Given the description of an element on the screen output the (x, y) to click on. 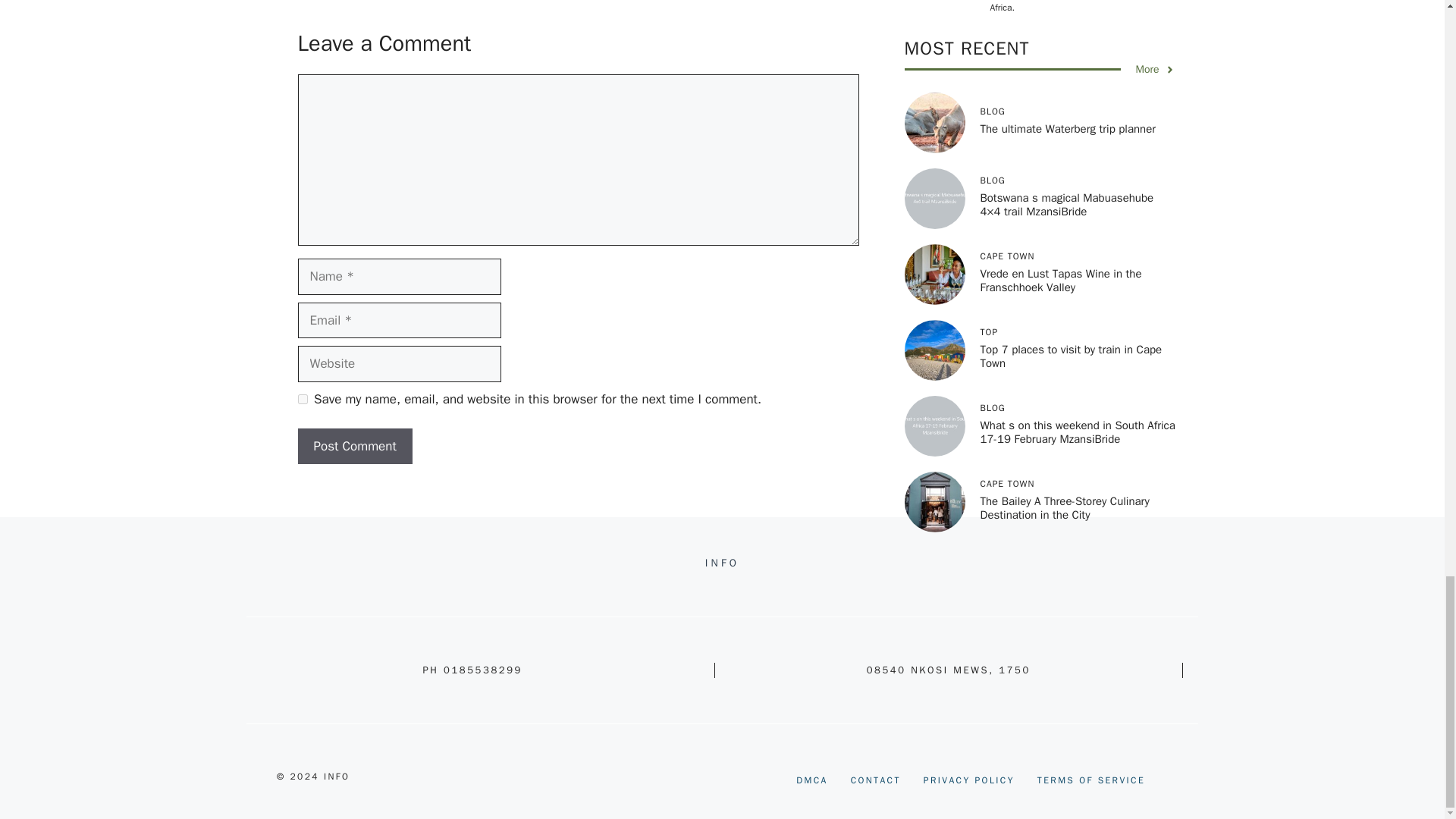
Post Comment (354, 446)
CONTACT (875, 780)
Post Comment (354, 446)
yes (302, 398)
DMCA (812, 780)
